Given the description of an element on the screen output the (x, y) to click on. 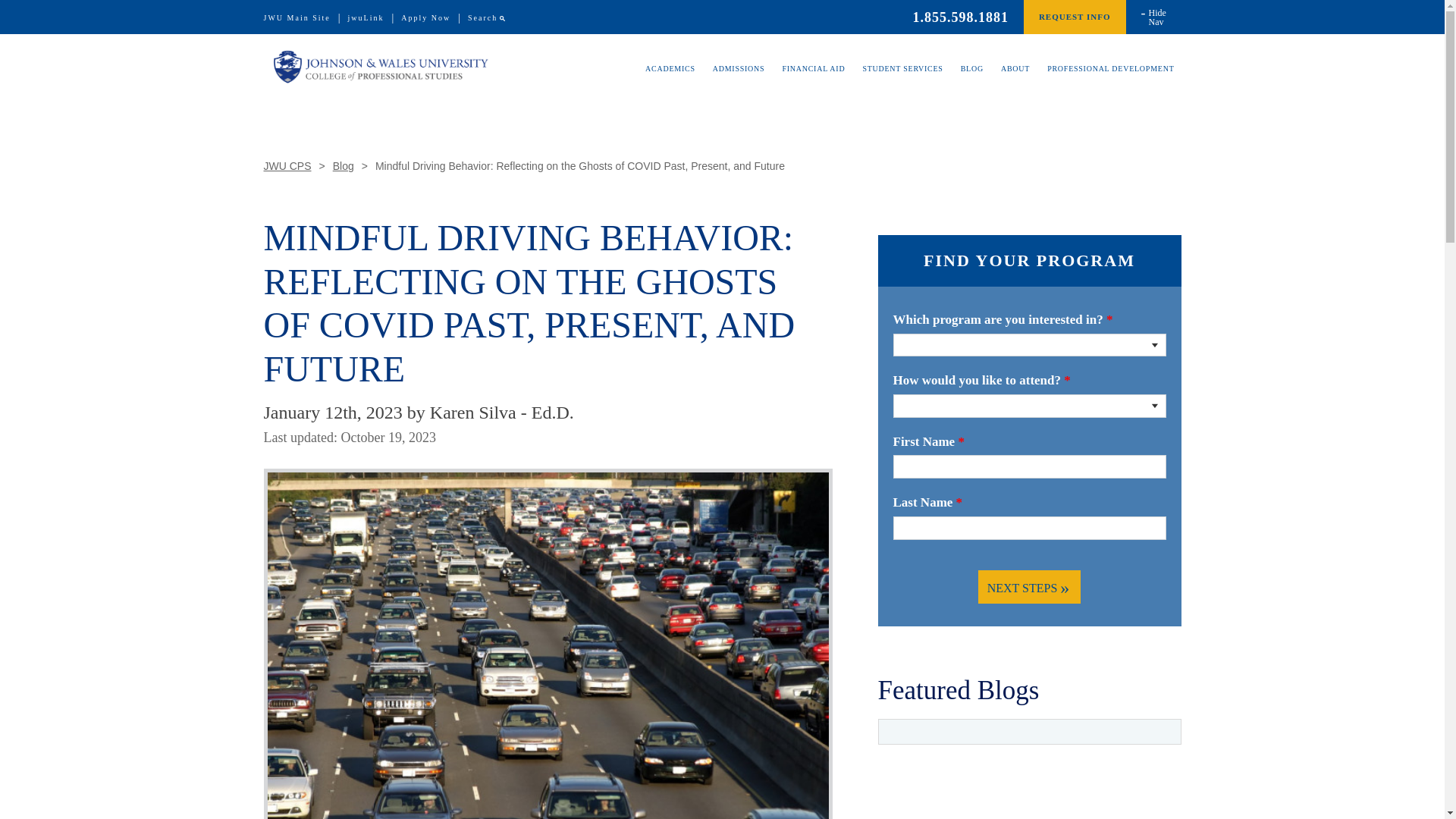
Search (482, 17)
JWU College of Professional Studies (381, 67)
1.855.598.1881 (960, 17)
Program (1029, 344)
Call us today. (960, 17)
JWU Main Site (296, 17)
Apply Now (425, 17)
ADMISSIONS (738, 80)
Last Name (1029, 527)
REQUEST INFO (1074, 17)
